Given the description of an element on the screen output the (x, y) to click on. 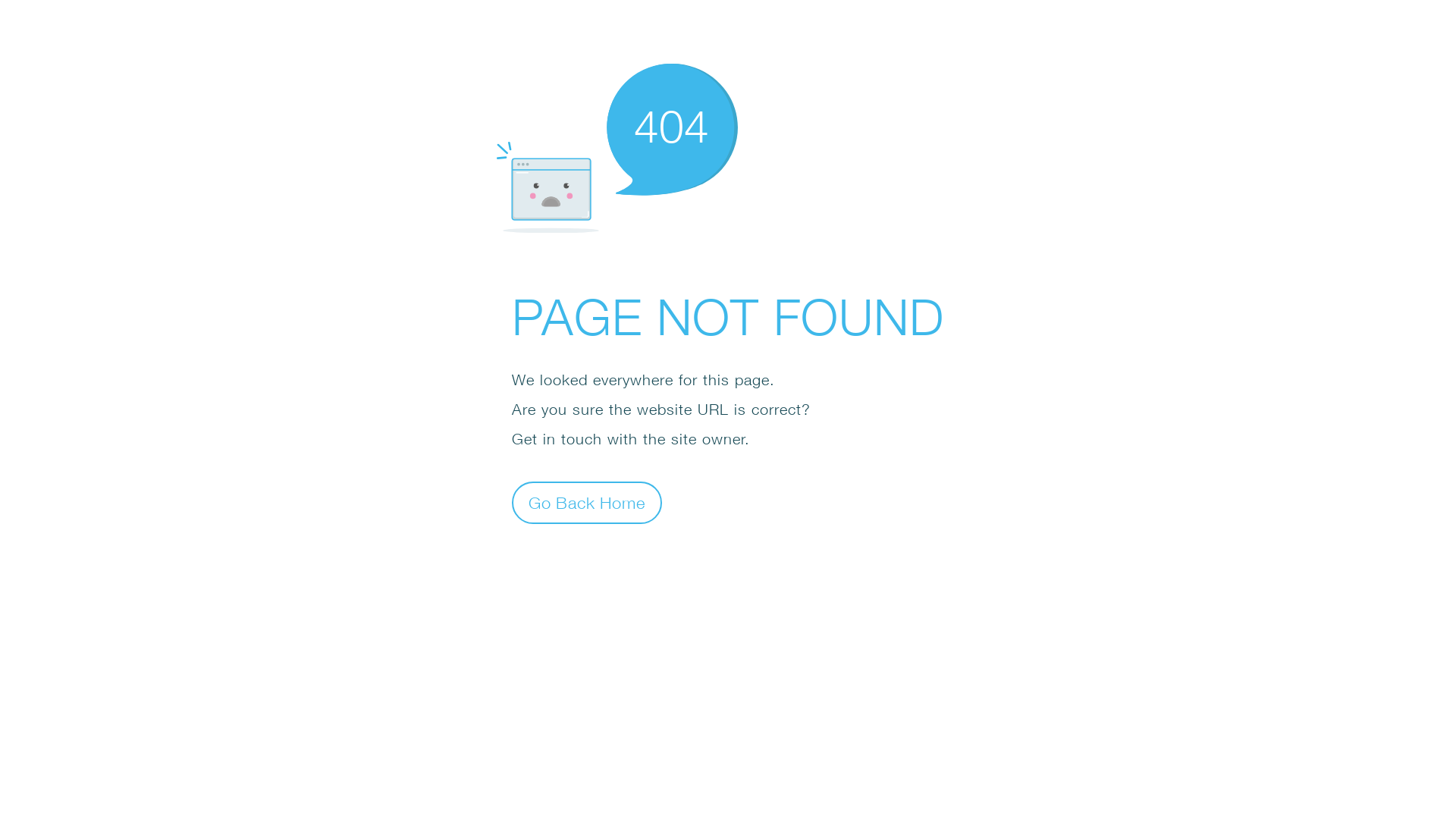
Go Back Home Element type: text (586, 502)
